Given the description of an element on the screen output the (x, y) to click on. 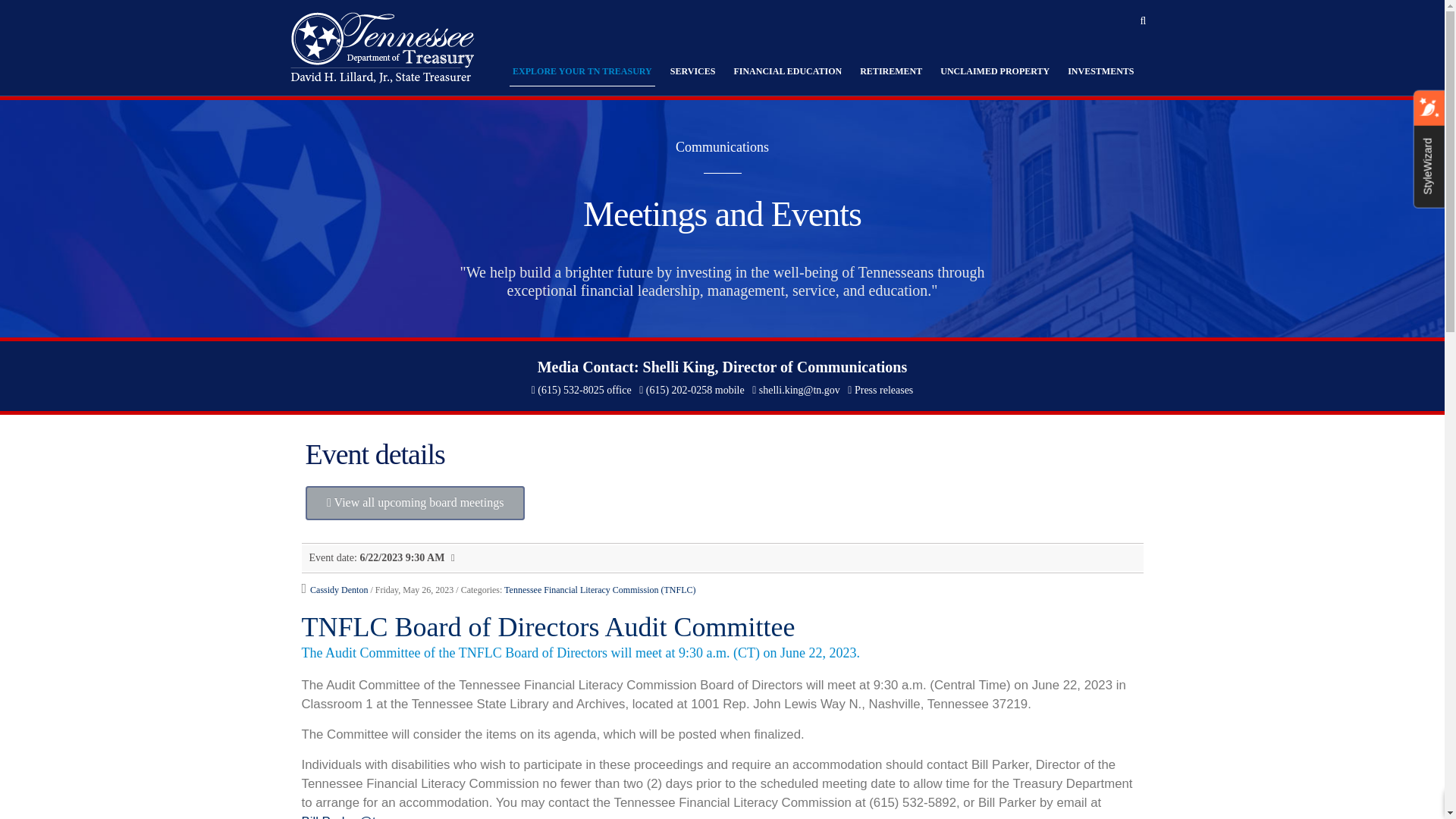
EXPLORE YOUR TN TREASURY (582, 74)
